Given the description of an element on the screen output the (x, y) to click on. 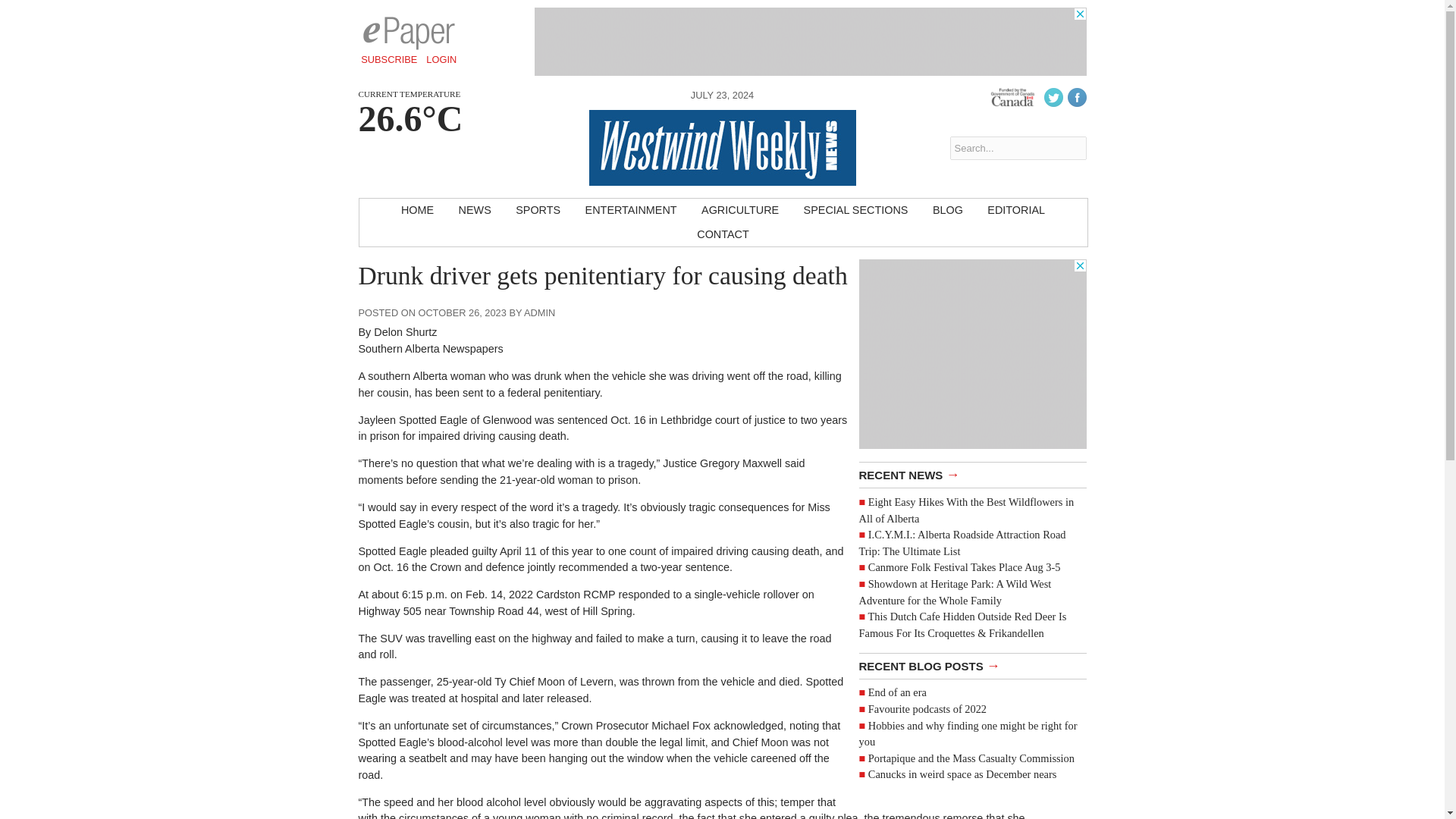
3rd party ad content (810, 41)
SPECIAL SECTIONS (855, 210)
HOME (417, 210)
Eight Easy Hikes With the Best Wildflowers in All of Alberta (966, 510)
Portapique and the Mass Casualty Commission (970, 758)
BLOG (947, 210)
Canucks in weird space as December nears (962, 774)
EDITORIAL (1015, 210)
LOGIN (441, 58)
Favourite podcasts of 2022 (927, 708)
NEWS (475, 210)
3rd party ad content (972, 353)
ENTERTAINMENT (631, 210)
